Given the description of an element on the screen output the (x, y) to click on. 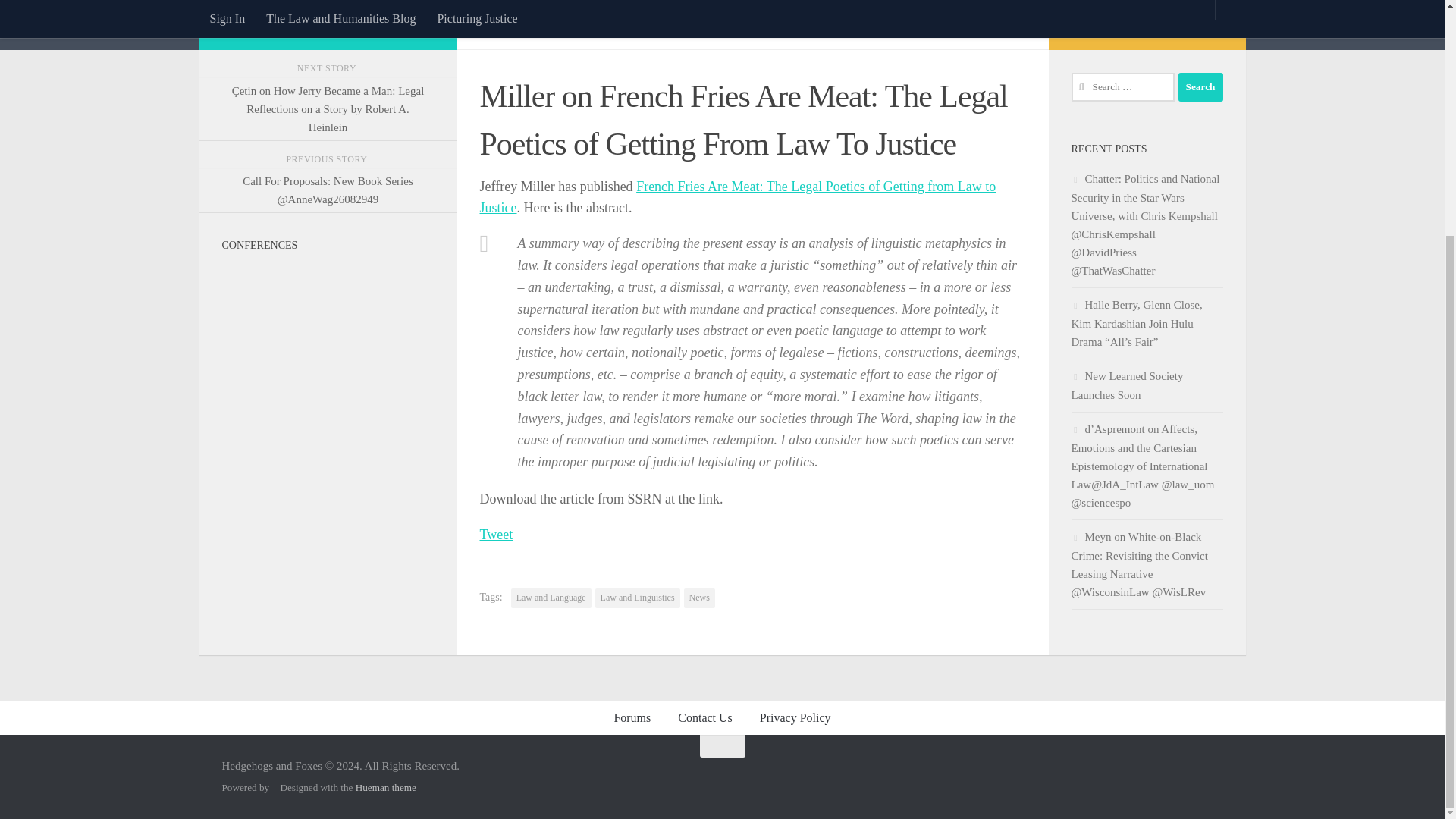
Search (1200, 86)
Hueman theme (385, 787)
Search (1200, 86)
